Given the description of an element on the screen output the (x, y) to click on. 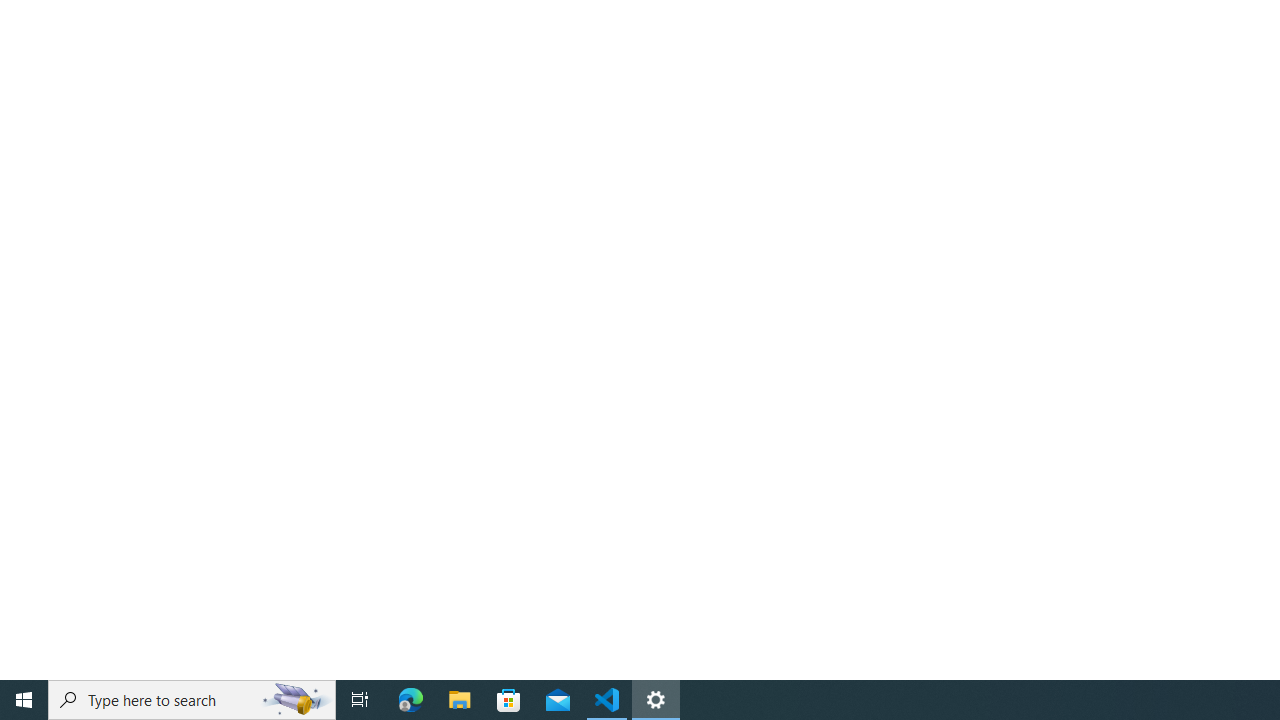
Settings - 1 running window (656, 699)
